Given the description of an element on the screen output the (x, y) to click on. 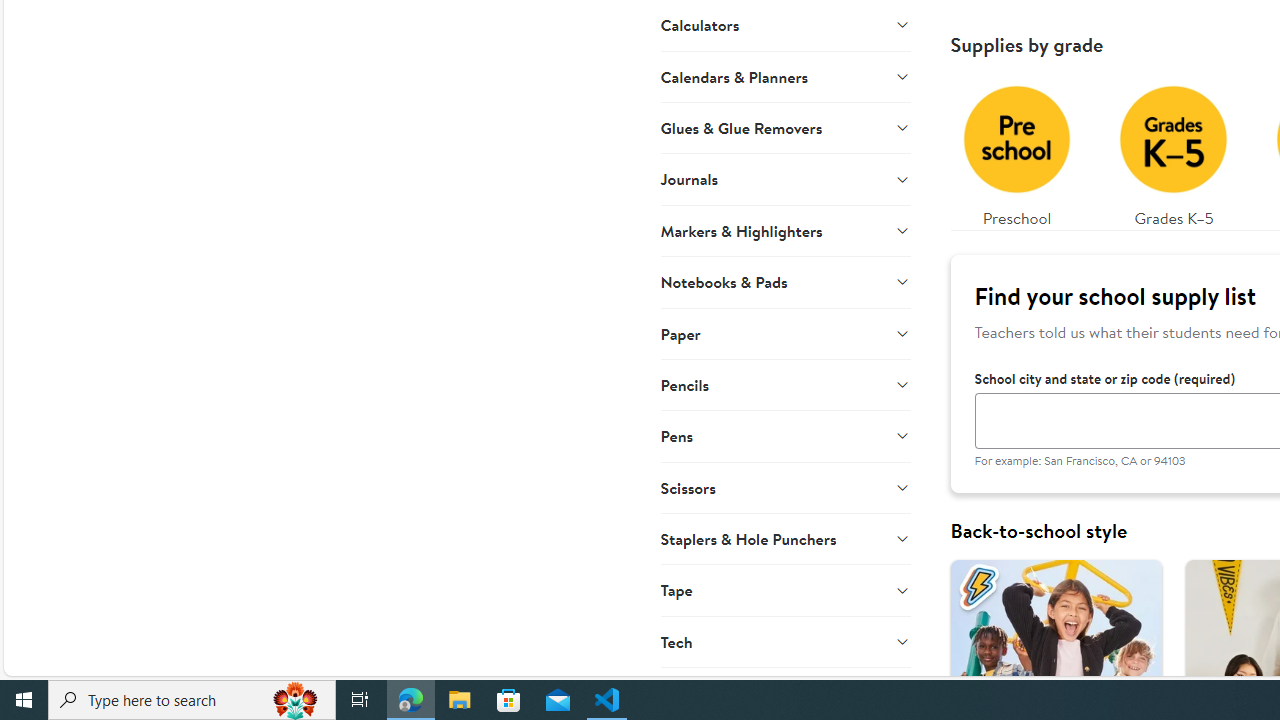
Pens (785, 435)
Preschool (1016, 150)
Glues & Glue Removers (785, 127)
Preschool (1016, 150)
Markers & Highlighters (785, 230)
Tech (785, 641)
Journals (785, 178)
Whiteboards & Blackboards (785, 692)
